Given the description of an element on the screen output the (x, y) to click on. 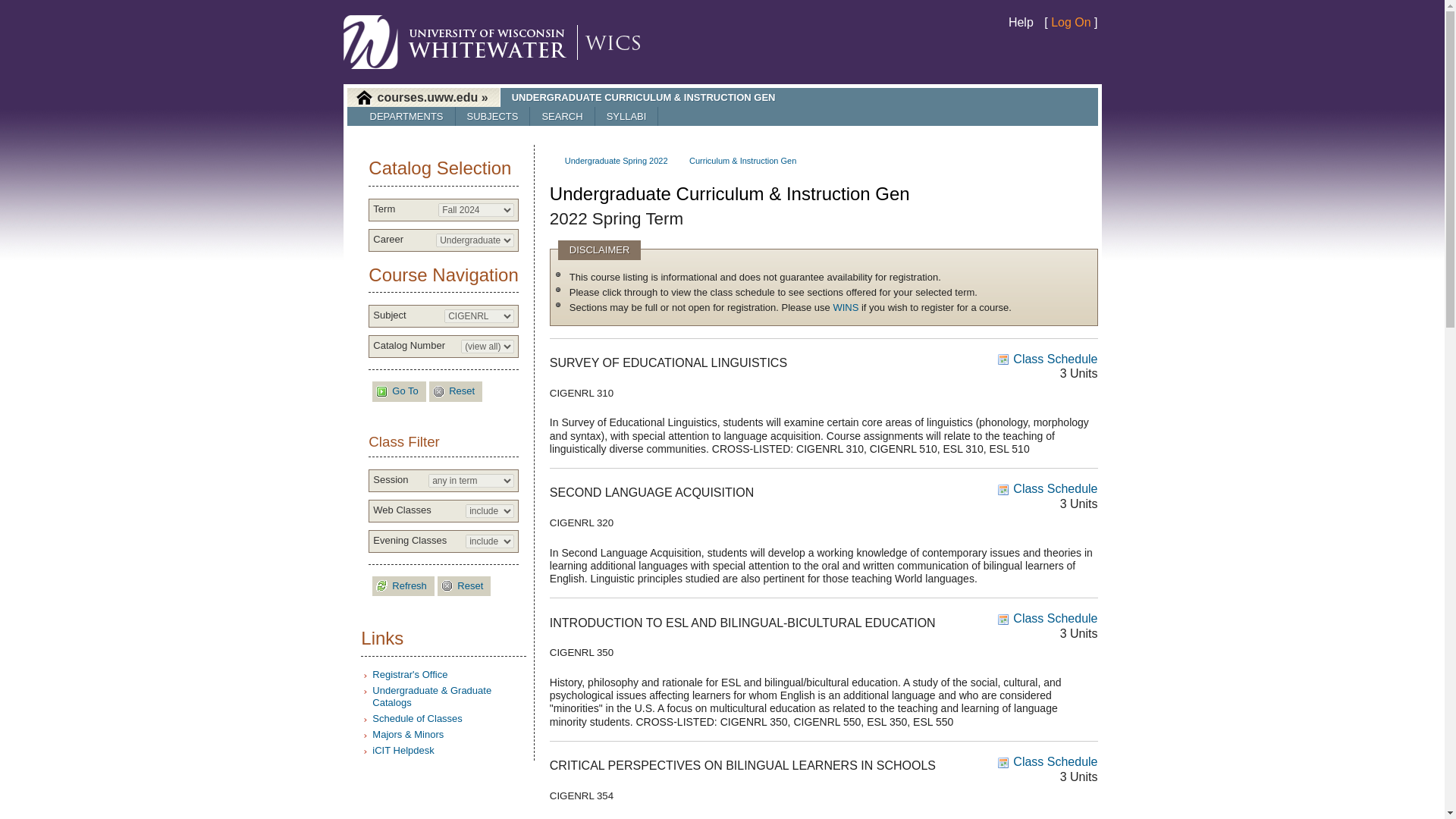
Class Schedule (1047, 488)
Reset (464, 586)
Class Schedule (1047, 358)
Log On (1070, 21)
Help (1021, 21)
DEPARTMENTS (406, 116)
WINS (845, 307)
Undergraduate Spring 2022 (616, 160)
Refresh (402, 586)
SYLLABI (626, 116)
